Given the description of an element on the screen output the (x, y) to click on. 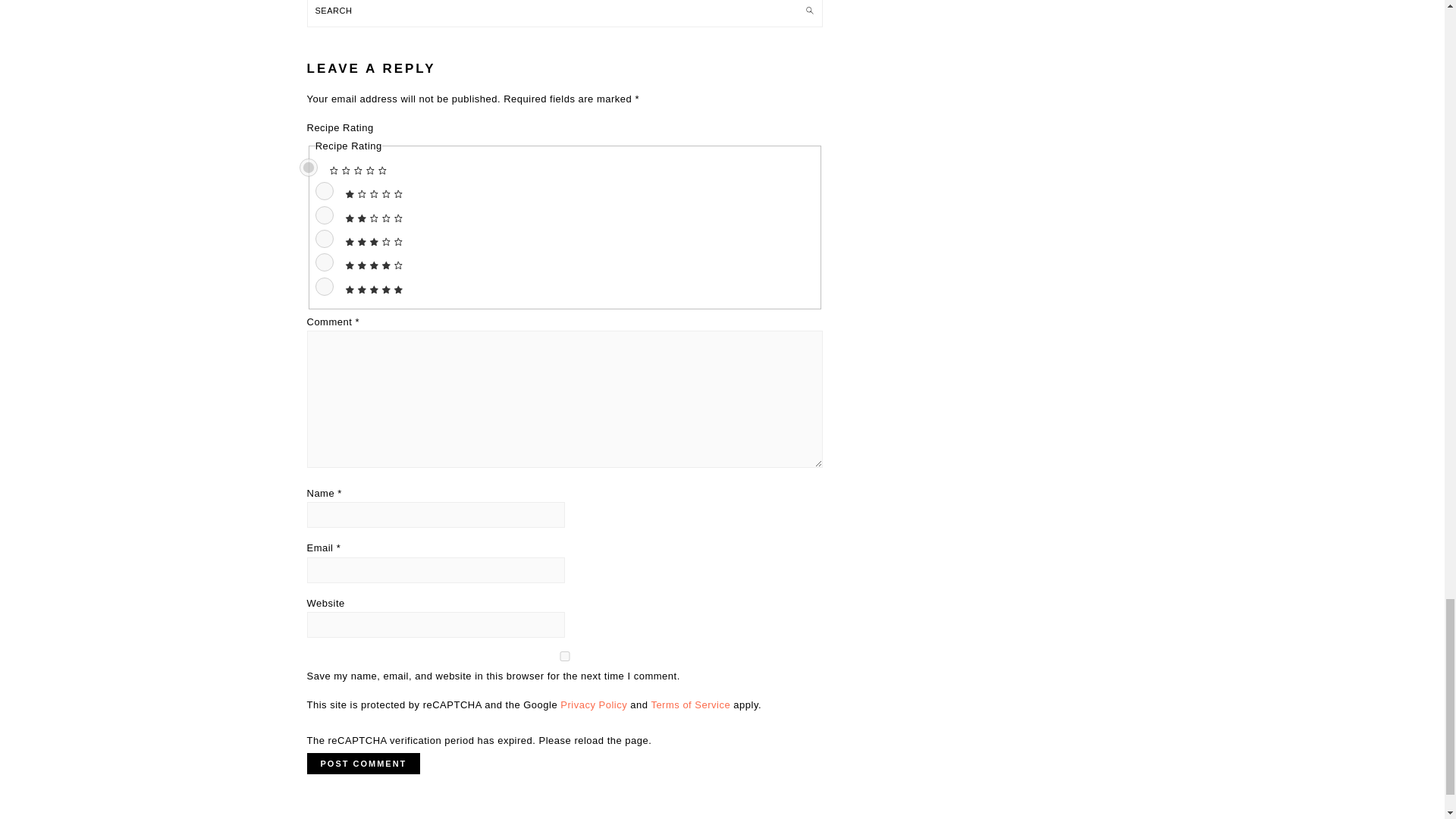
Post Comment (362, 762)
1 (324, 190)
3 (324, 239)
2 (324, 215)
Privacy Policy (593, 704)
0 (308, 167)
Post Comment (362, 762)
Terms of Service (690, 704)
